Given the description of an element on the screen output the (x, y) to click on. 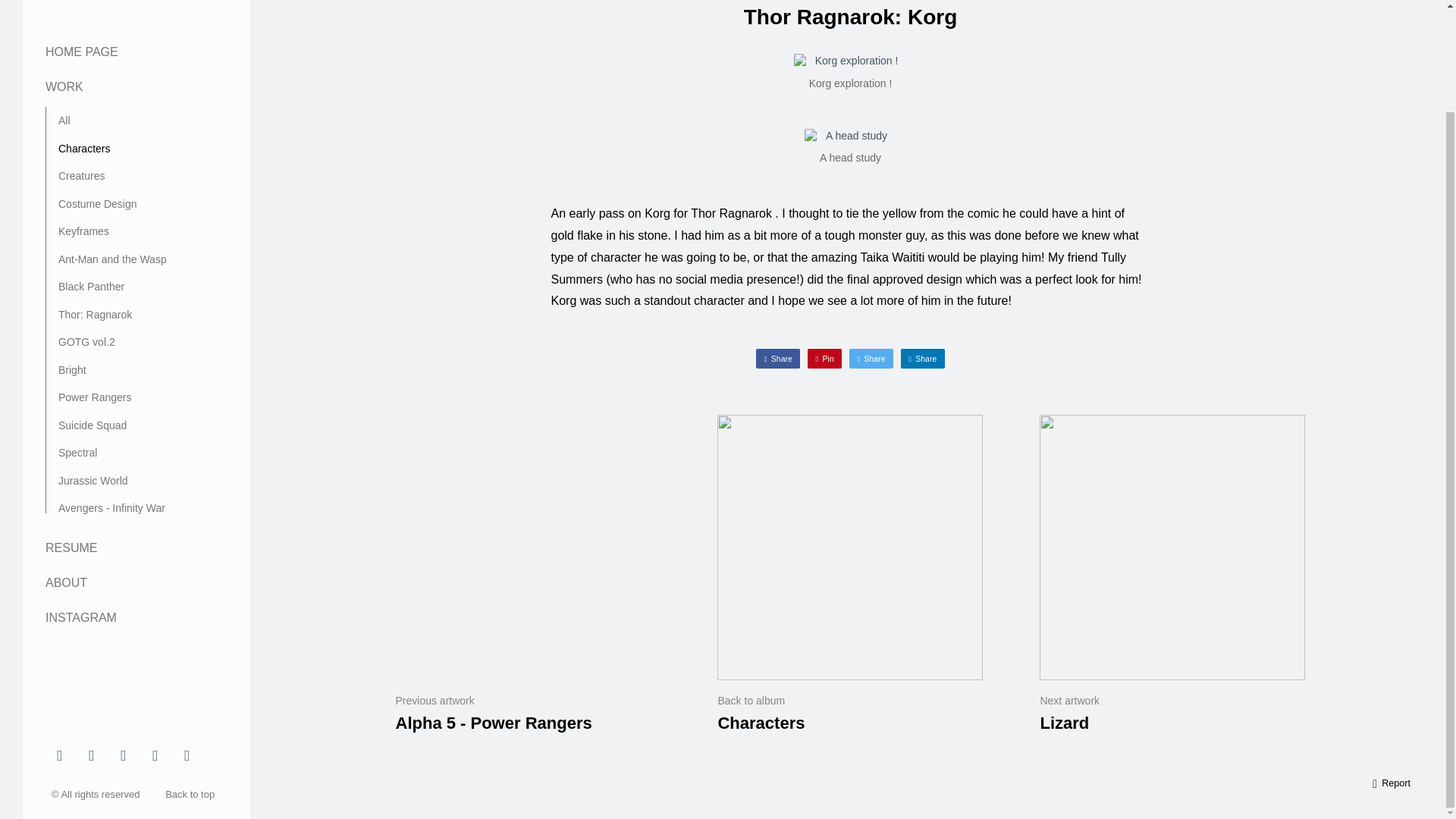
RESUME (71, 547)
WORK (63, 86)
Creatures (81, 175)
Characters (84, 148)
Ant-Man and the Wasp (112, 259)
Suicide Squad (92, 425)
Back to top (193, 794)
Avengers - Infinity War (111, 508)
INSTAGRAM (80, 617)
HOME PAGE (81, 51)
